Given the description of an element on the screen output the (x, y) to click on. 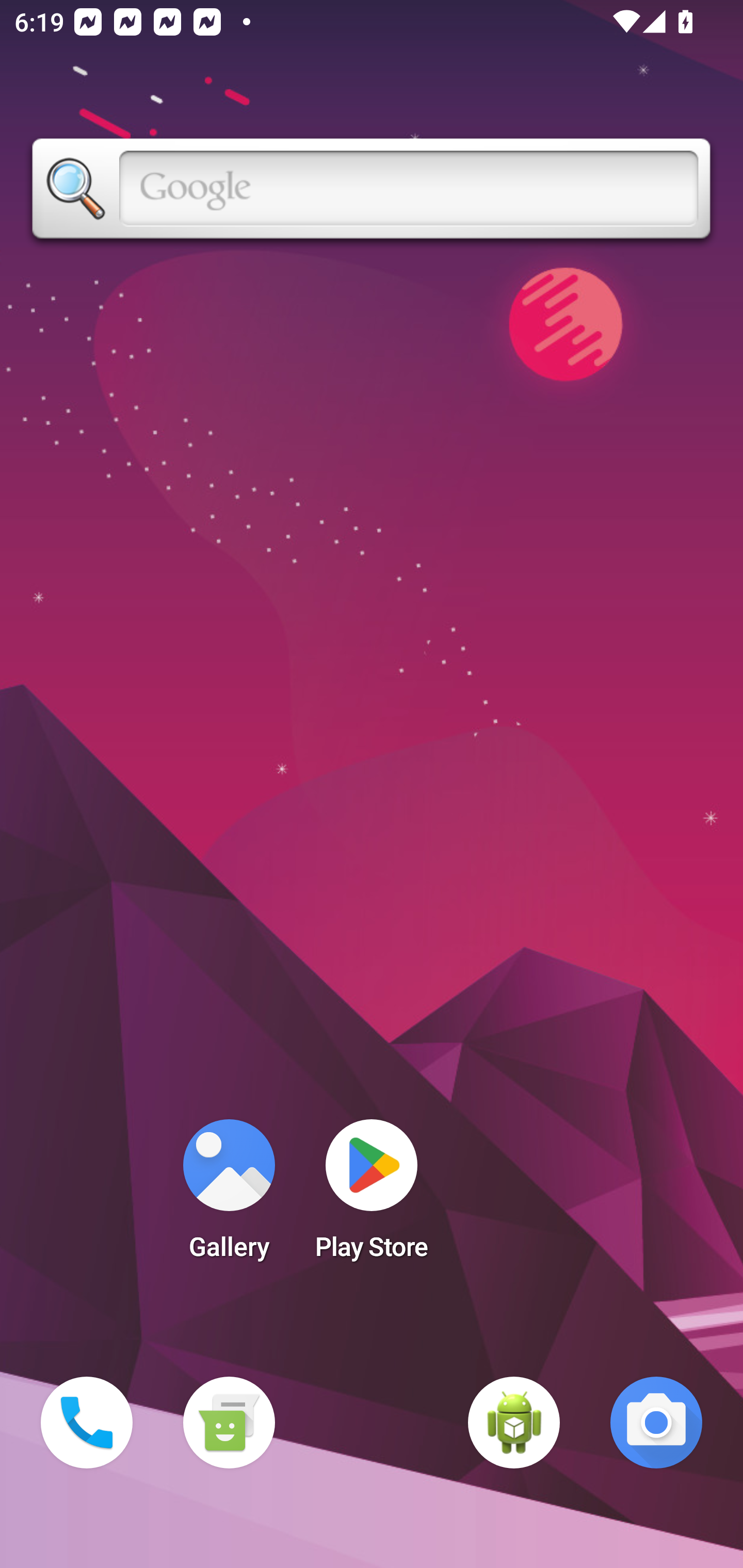
Gallery (228, 1195)
Play Store (371, 1195)
Phone (86, 1422)
Messaging (228, 1422)
WebView Browser Tester (513, 1422)
Camera (656, 1422)
